Given the description of an element on the screen output the (x, y) to click on. 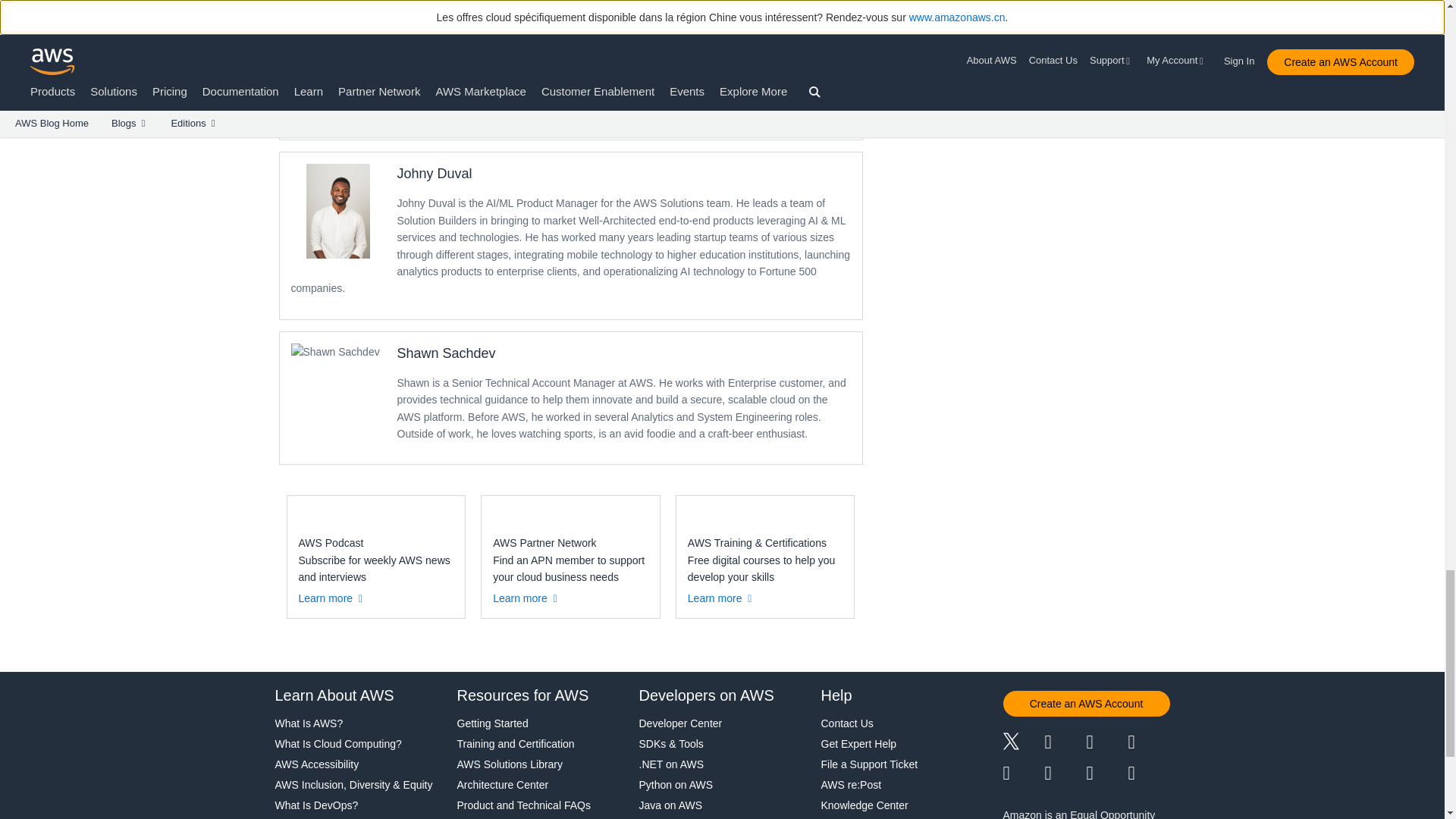
Twitter (1023, 743)
Instagram (1149, 743)
Twitch (1023, 772)
Facebook (1065, 743)
Podcast (1106, 772)
Linkedin (1106, 743)
YouTube (1065, 772)
